Given the description of an element on the screen output the (x, y) to click on. 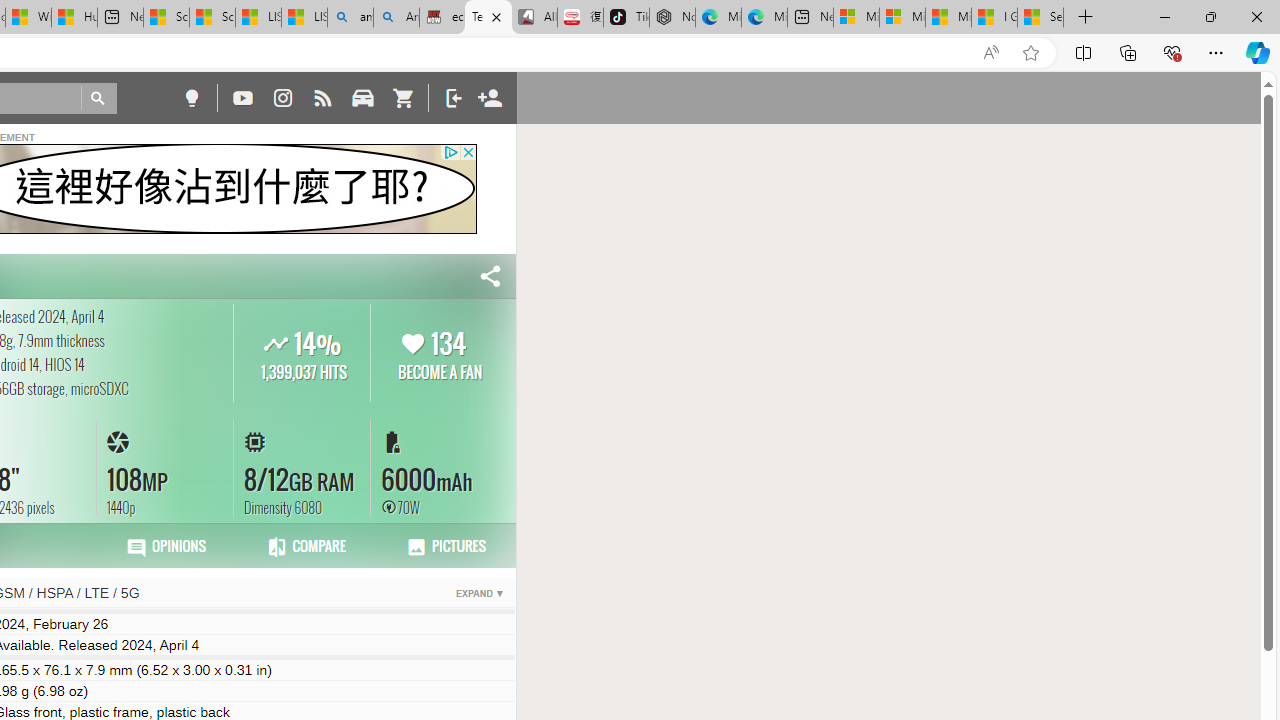
Class: privacy_out (450, 151)
Huge shark washes ashore at New York City beach | Watch (74, 17)
amazon - Search (349, 17)
Nordace - Best Sellers (672, 17)
TikTok (626, 17)
Go (98, 97)
